Given the description of an element on the screen output the (x, y) to click on. 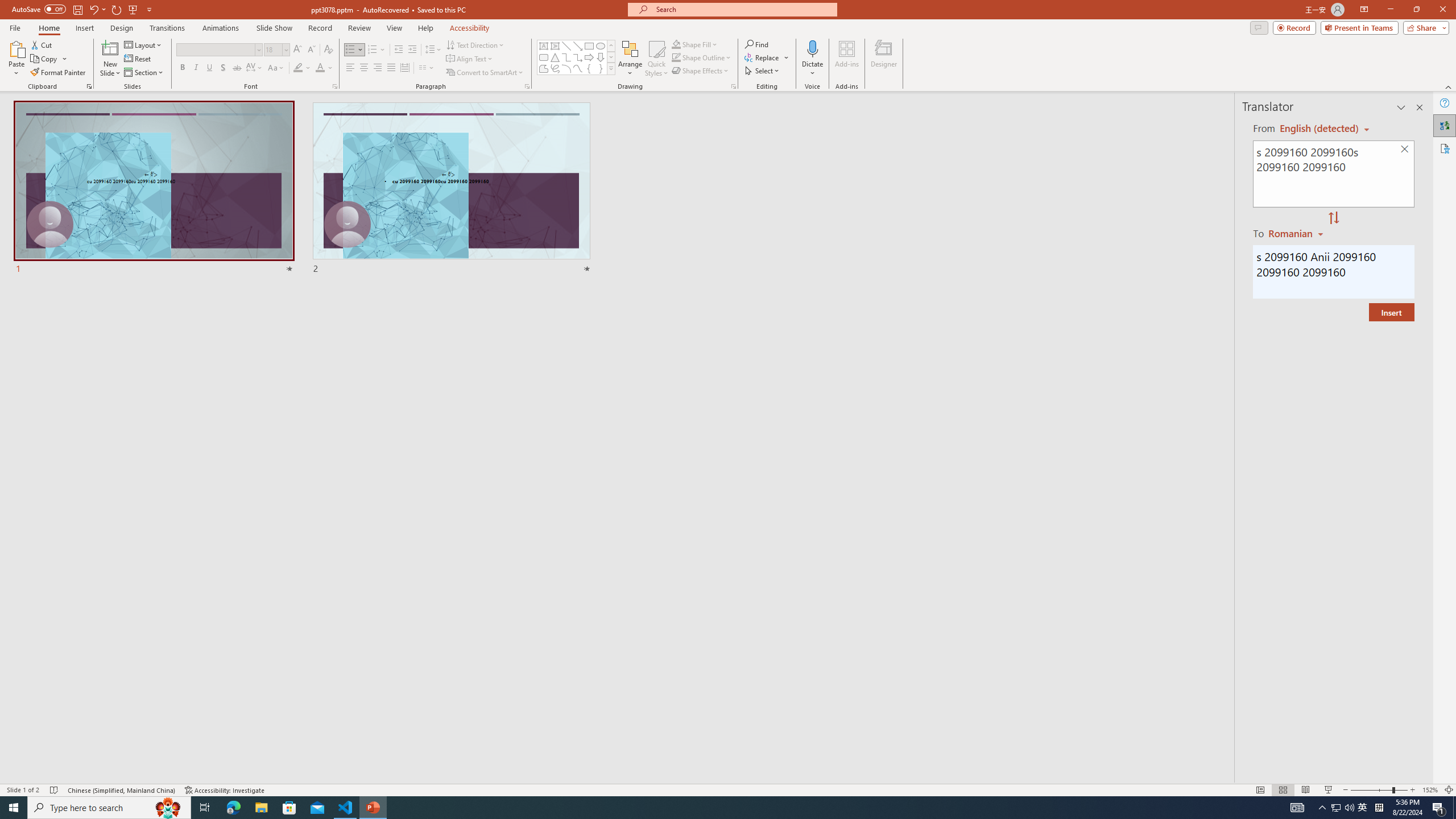
Shape Fill Dark Green, Accent 2 (675, 44)
